Given the description of an element on the screen output the (x, y) to click on. 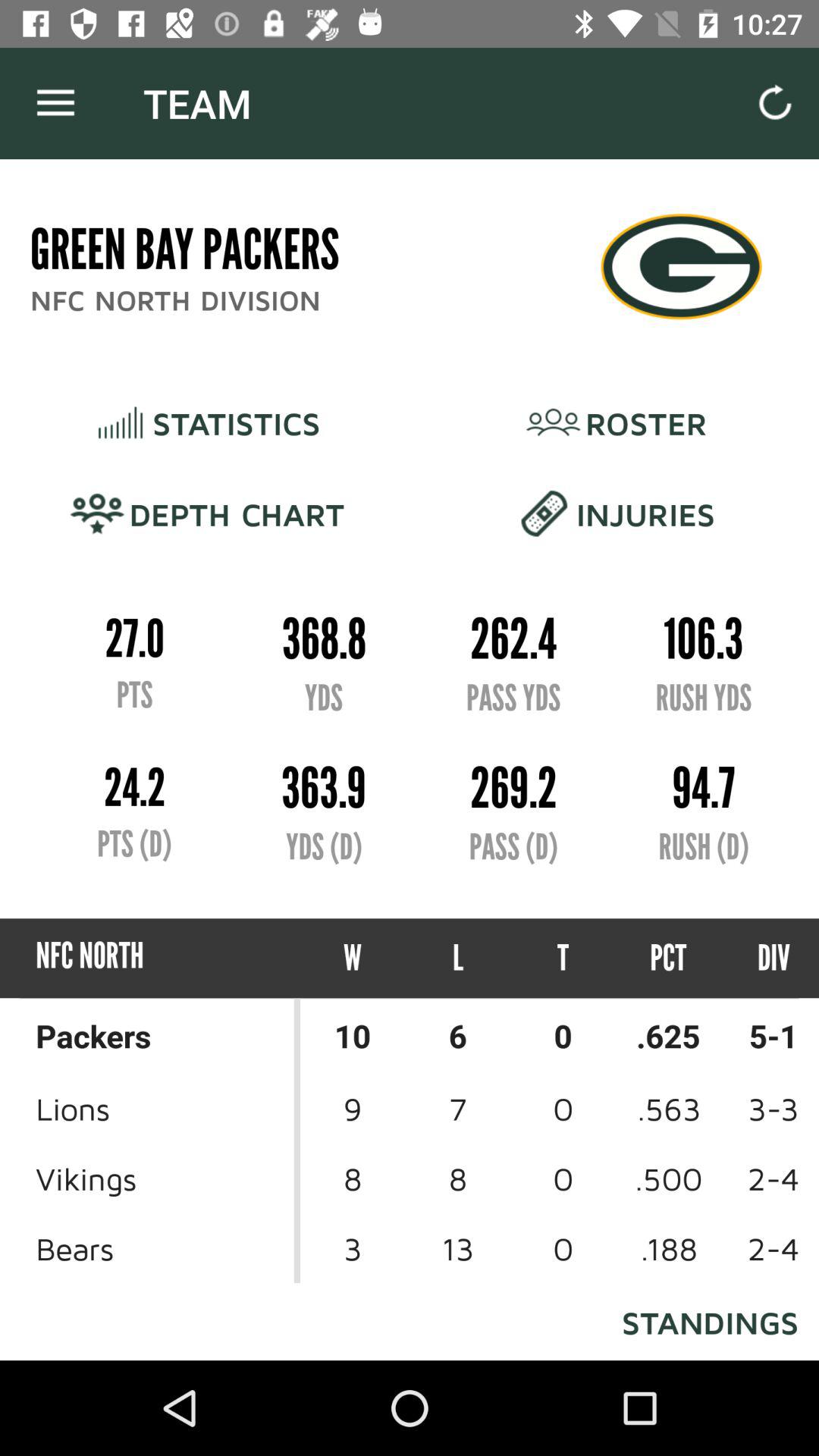
open item below the rush (d) (760, 958)
